Given the description of an element on the screen output the (x, y) to click on. 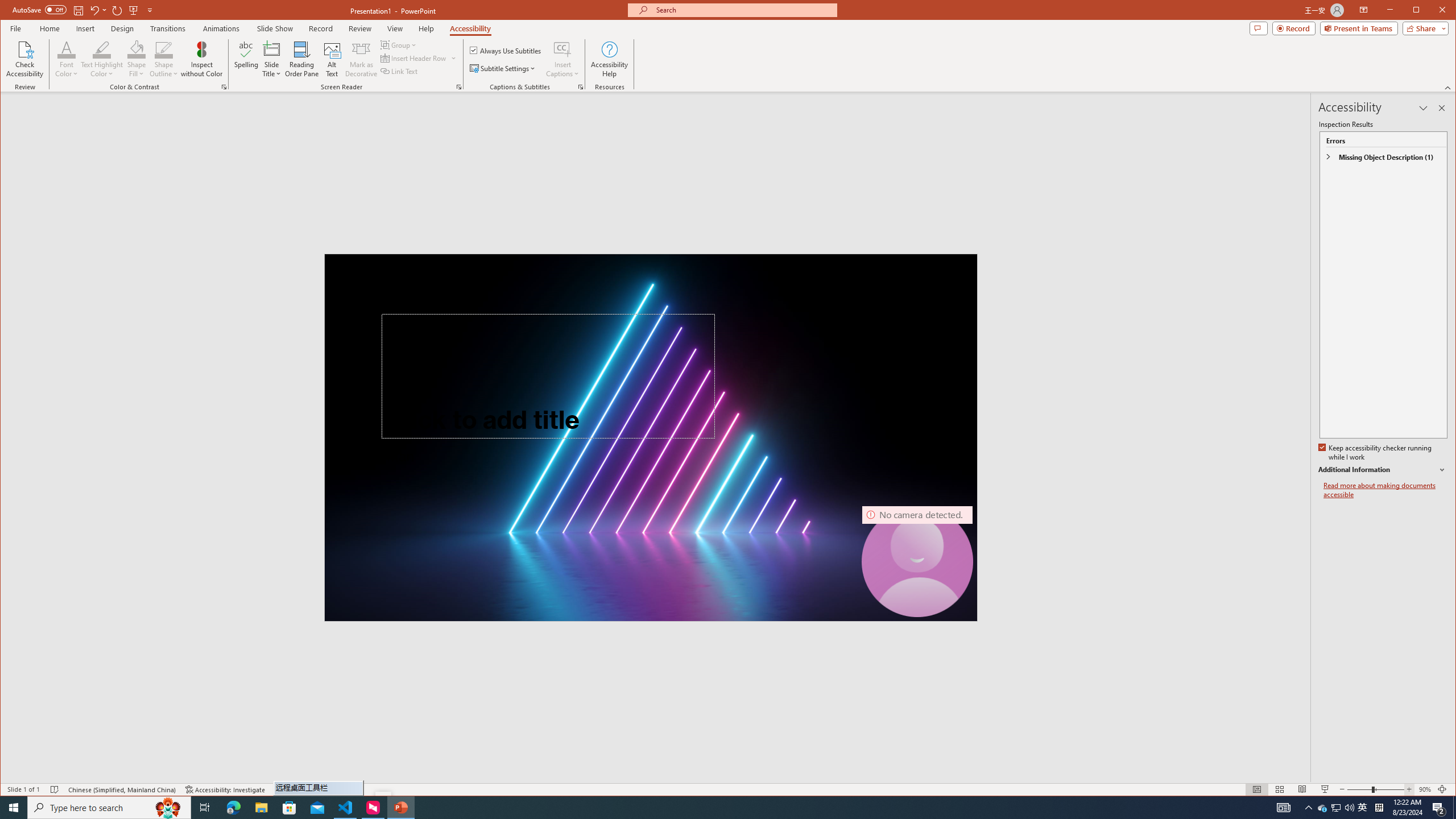
Reading Order Pane (301, 59)
Mark as Decorative (360, 59)
